Given the description of an element on the screen output the (x, y) to click on. 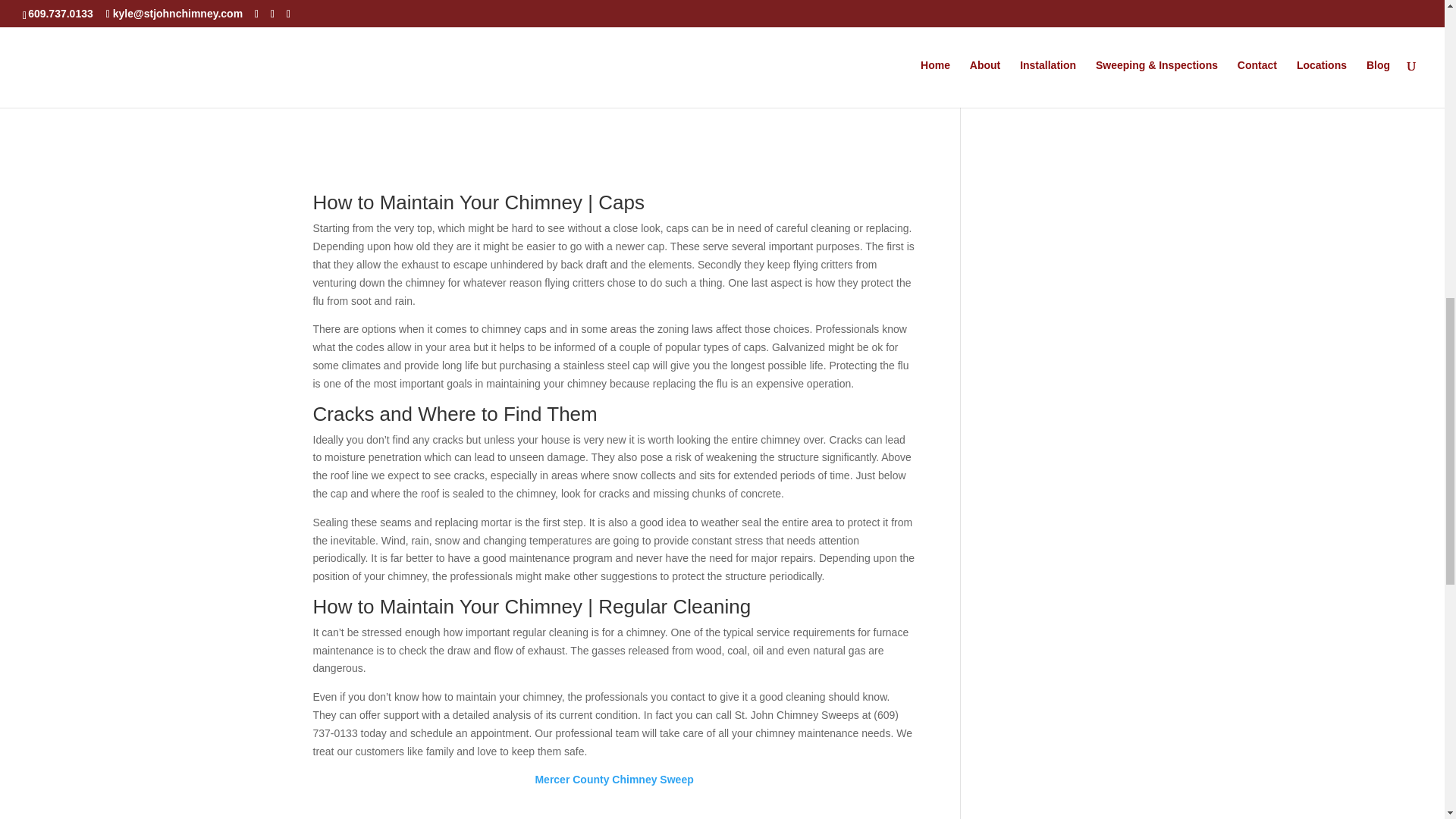
Mercer County Chimney Sweep (613, 779)
